Given the description of an element on the screen output the (x, y) to click on. 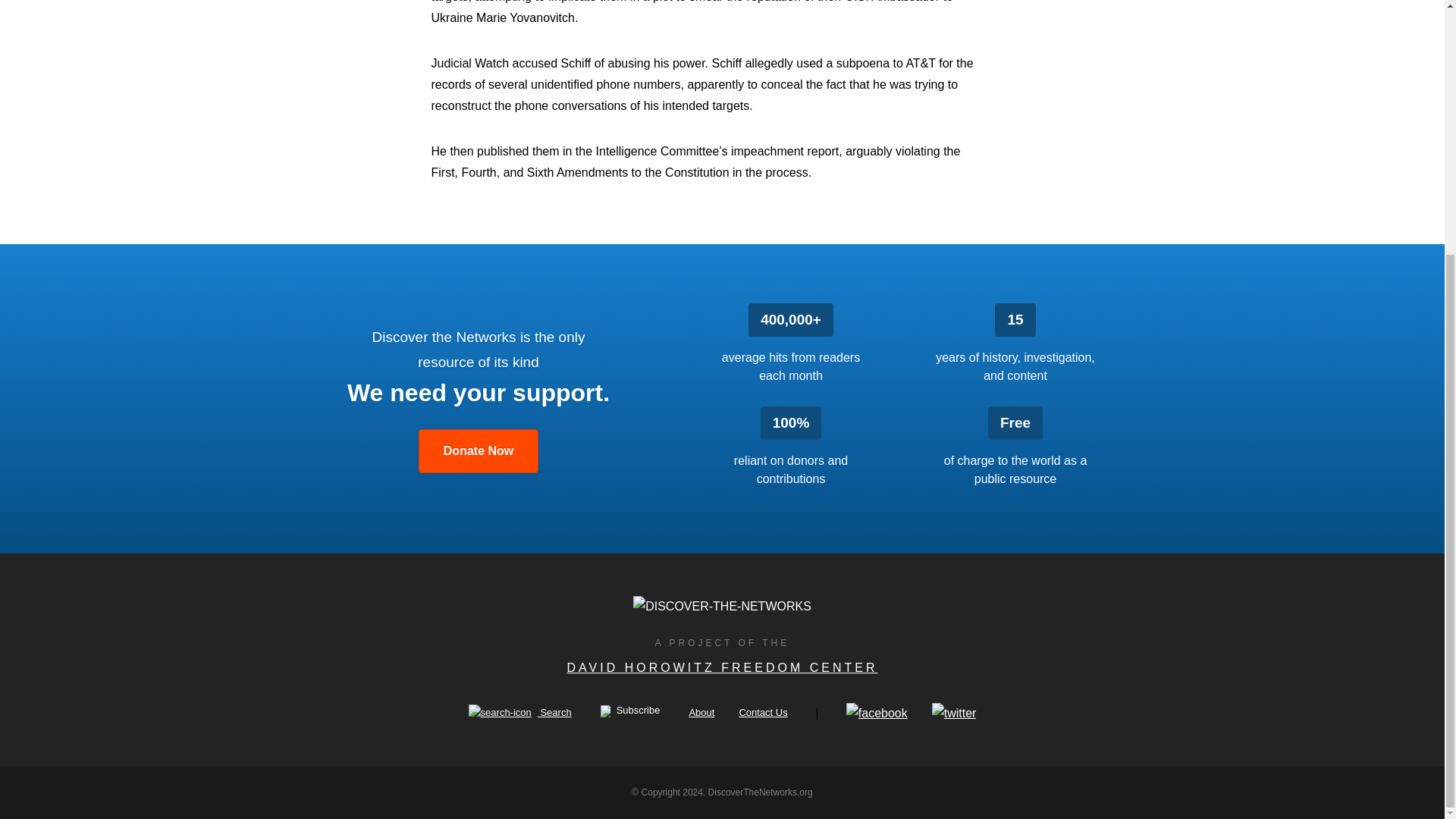
Subscribe (630, 711)
Search (520, 712)
Donate Now (478, 451)
Contact Us (762, 712)
DAVID HOROWITZ FREEDOM CENTER (722, 667)
About (701, 712)
